Given the description of an element on the screen output the (x, y) to click on. 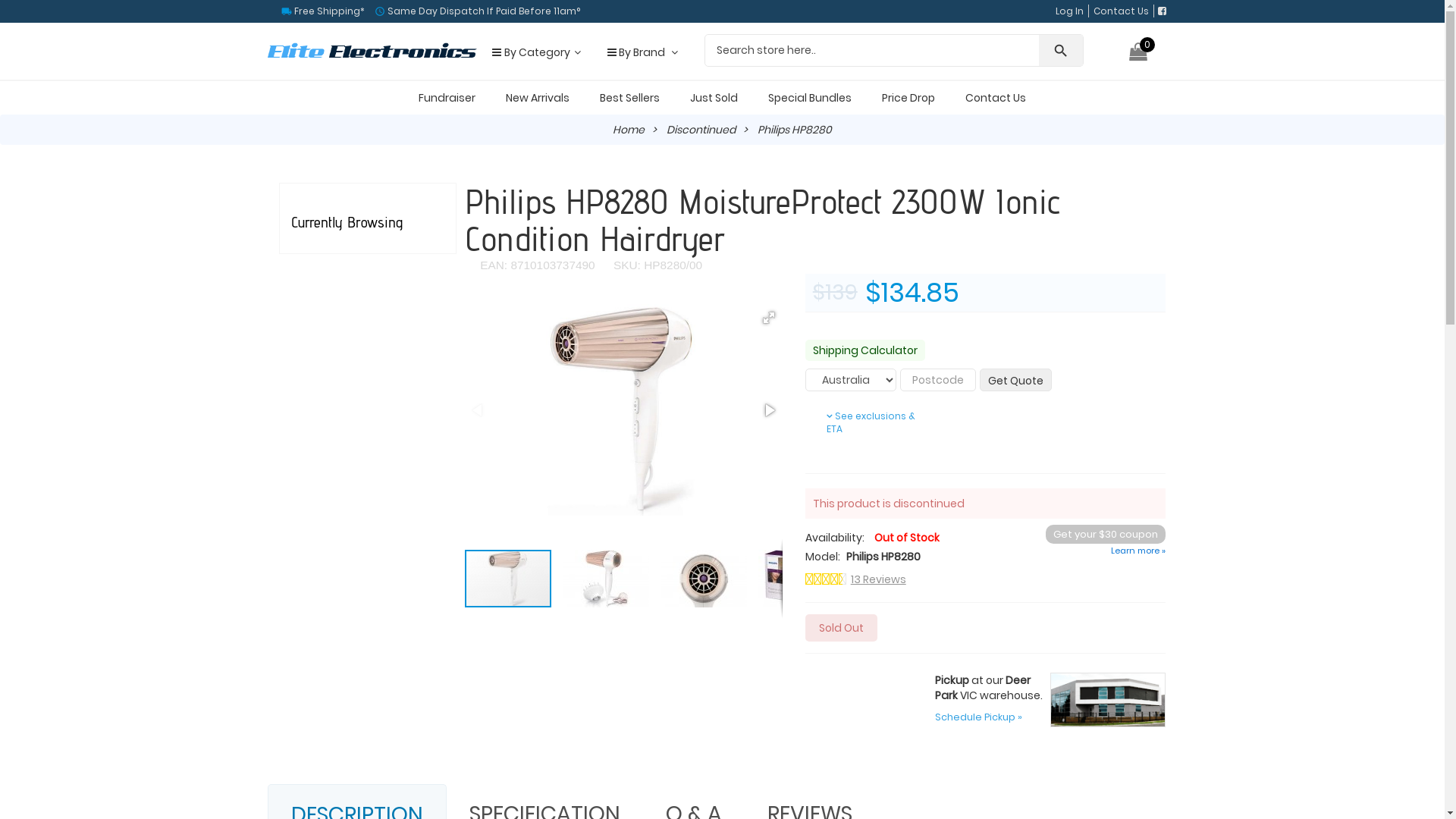
Contact Us Element type: text (995, 97)
Price Drop Element type: text (908, 97)
New Arrivals Element type: text (537, 97)
Home Element type: text (628, 129)
Contact Us Element type: text (1120, 10)
Free Shipping* Element type: text (327, 10)
Log In Element type: text (1069, 10)
Just Sold Element type: text (713, 97)
By Category Element type: text (533, 52)
Special Bundles Element type: text (809, 97)
Discontinued Element type: text (700, 129)
search Element type: text (1060, 49)
Get your $30 coupon Element type: text (1105, 534)
0 Element type: text (1140, 54)
Fundraiser Element type: text (446, 97)
By Brand Element type: text (639, 52)
Best Sellers Element type: text (629, 97)
